Given the description of an element on the screen output the (x, y) to click on. 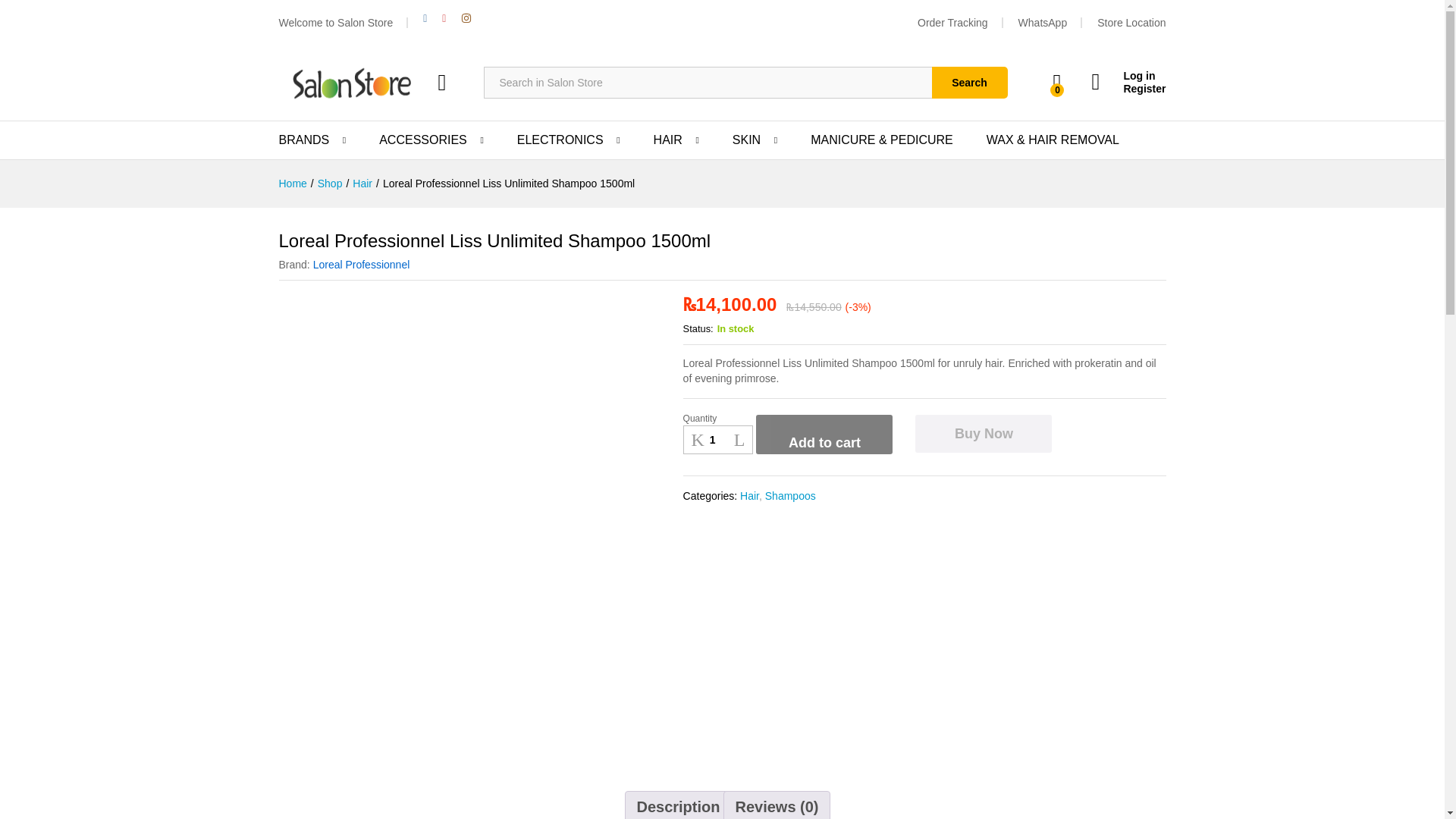
Store Location (1131, 22)
Qty (718, 439)
Instagram (465, 18)
Youtube (442, 18)
1 (718, 439)
WhatsApp (1042, 22)
Order Tracking (952, 22)
Facebook (423, 18)
